Given the description of an element on the screen output the (x, y) to click on. 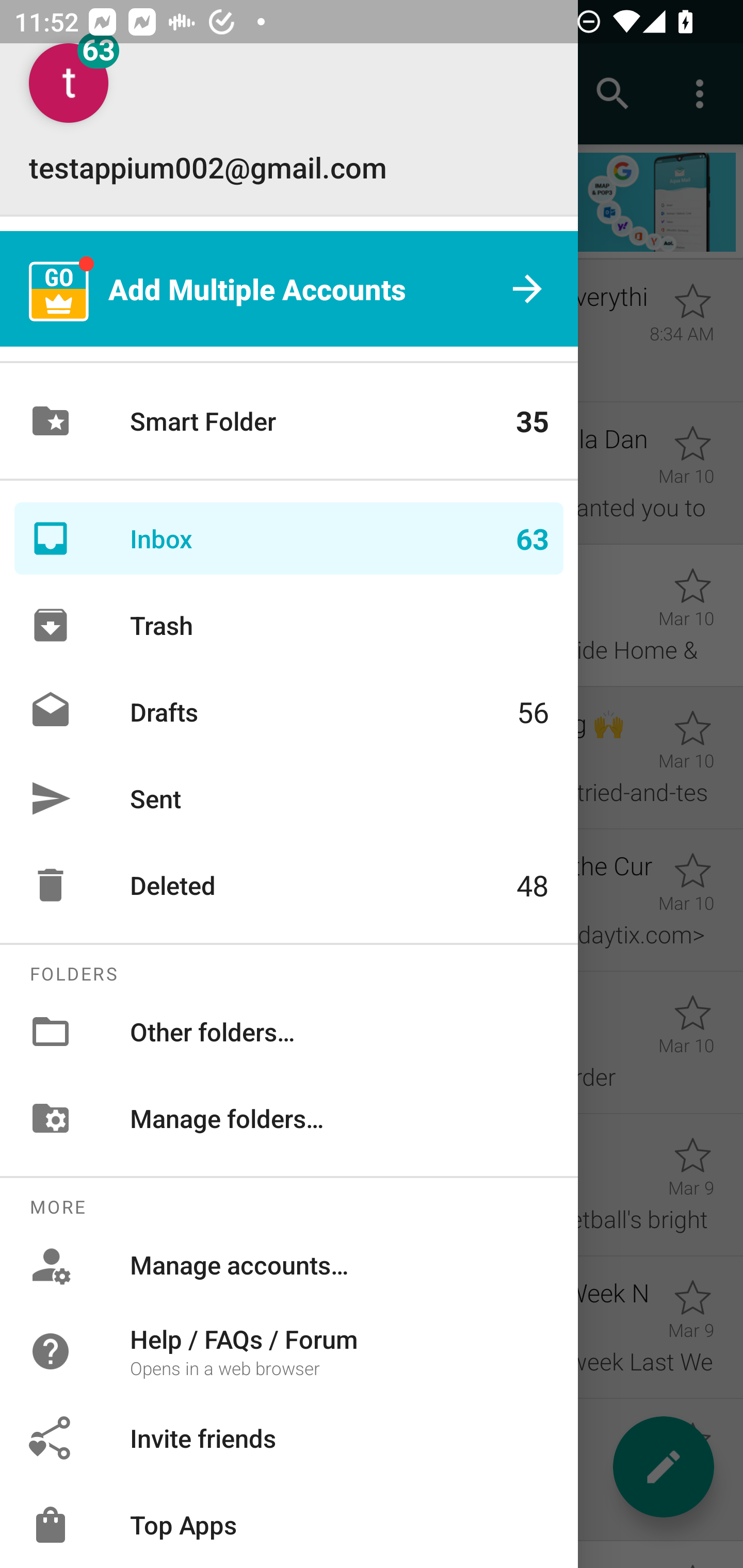
testappium002@gmail.com (289, 114)
Add Multiple Accounts (289, 288)
Smart Folder 35 (289, 420)
Inbox 63 (289, 538)
Trash (289, 624)
Drafts 56 (289, 711)
Sent (289, 798)
Deleted 48 (289, 885)
Other folders… (289, 1031)
Manage folders… (289, 1118)
Manage accounts… (289, 1264)
Help / FAQs / Forum Opens in a web browser (289, 1350)
Invite friends (289, 1437)
Top Apps (289, 1524)
